Given the description of an element on the screen output the (x, y) to click on. 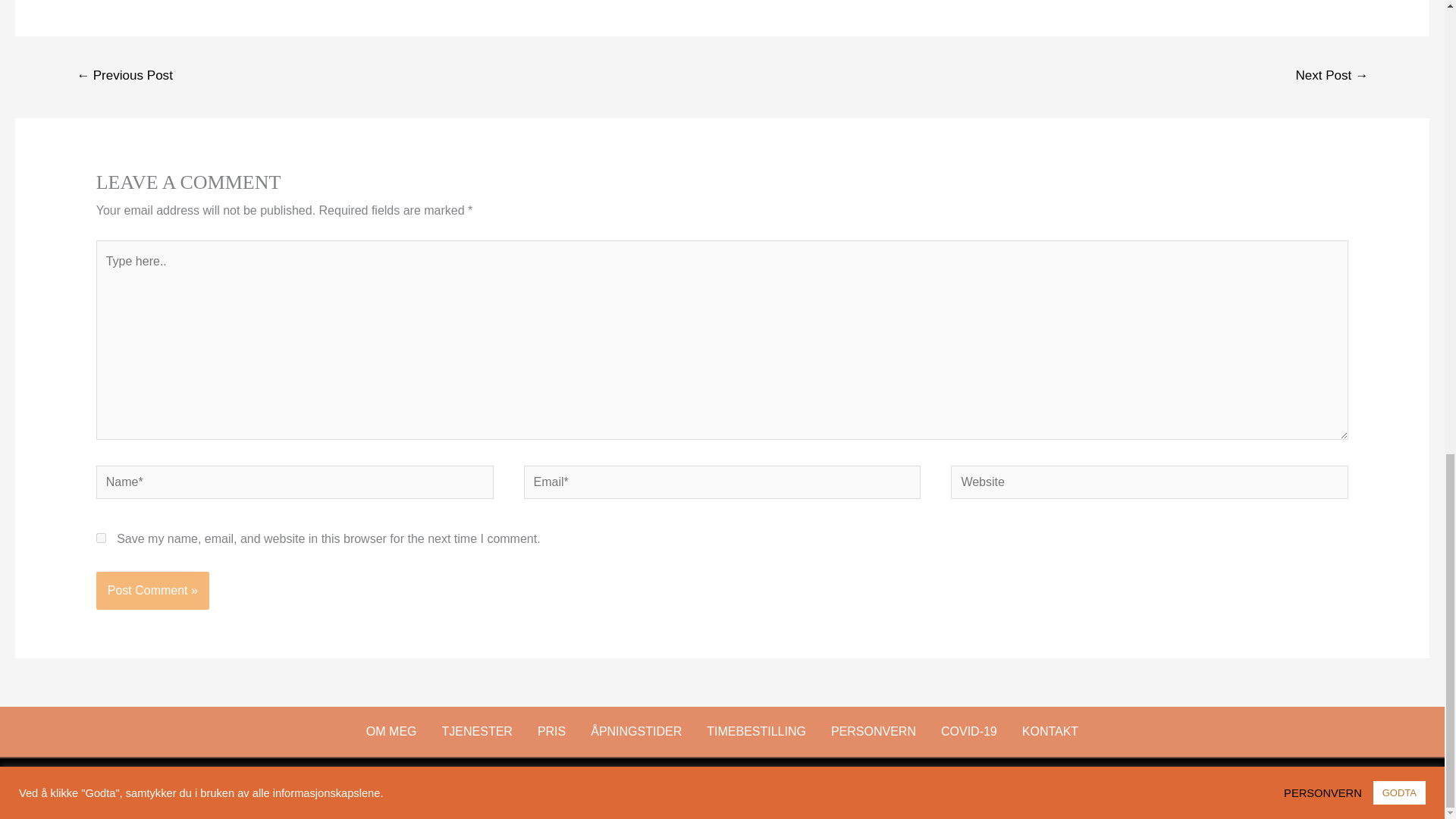
TJENESTER (477, 731)
PERSONVERN (873, 731)
KONTAKT (1049, 731)
COVID-19 (969, 731)
PRIS (550, 731)
OM MEG (391, 731)
TIMEBESTILLING (755, 731)
yes (101, 537)
